Given the description of an element on the screen output the (x, y) to click on. 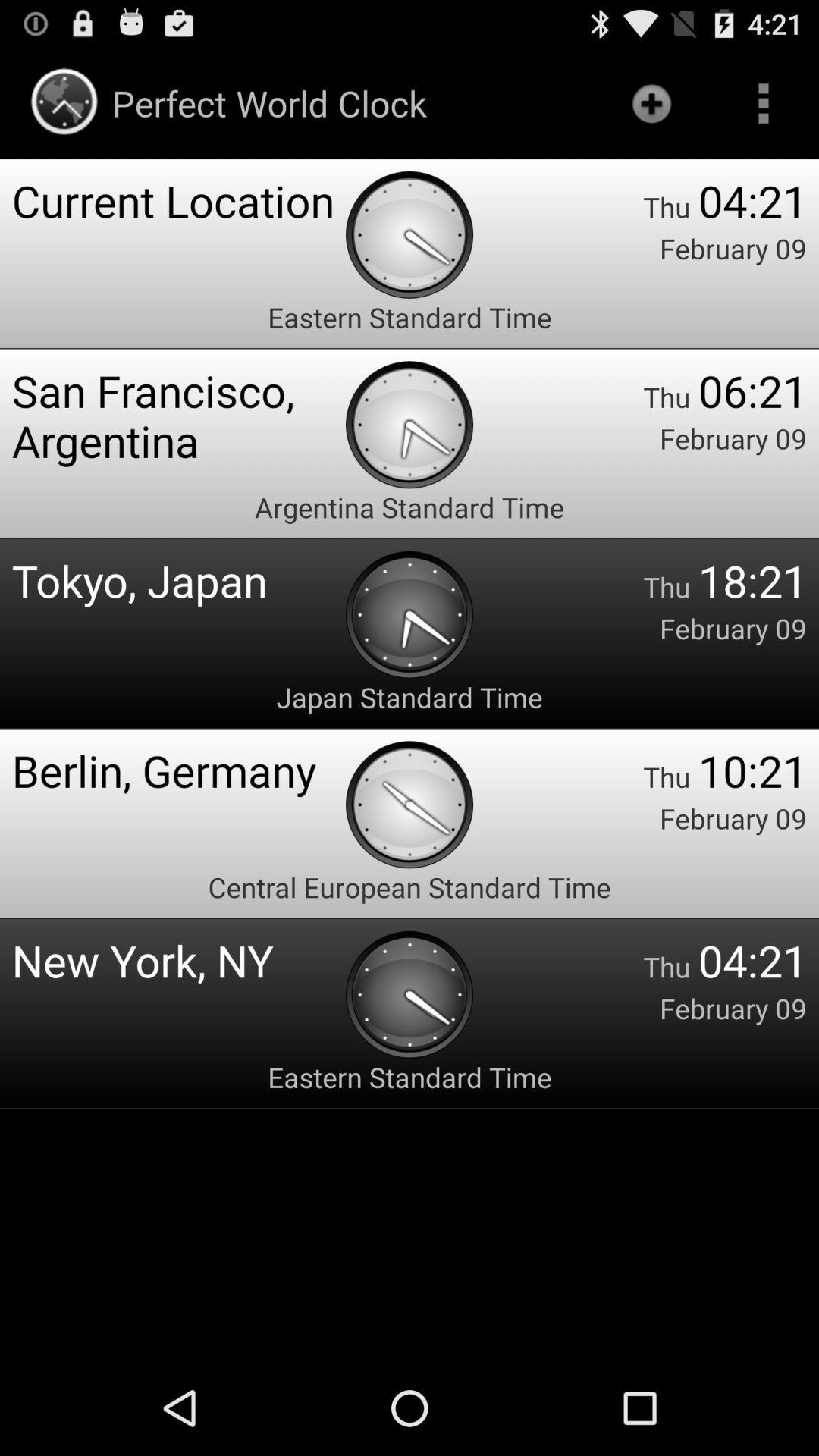
launch central european standard (409, 887)
